Given the description of an element on the screen output the (x, y) to click on. 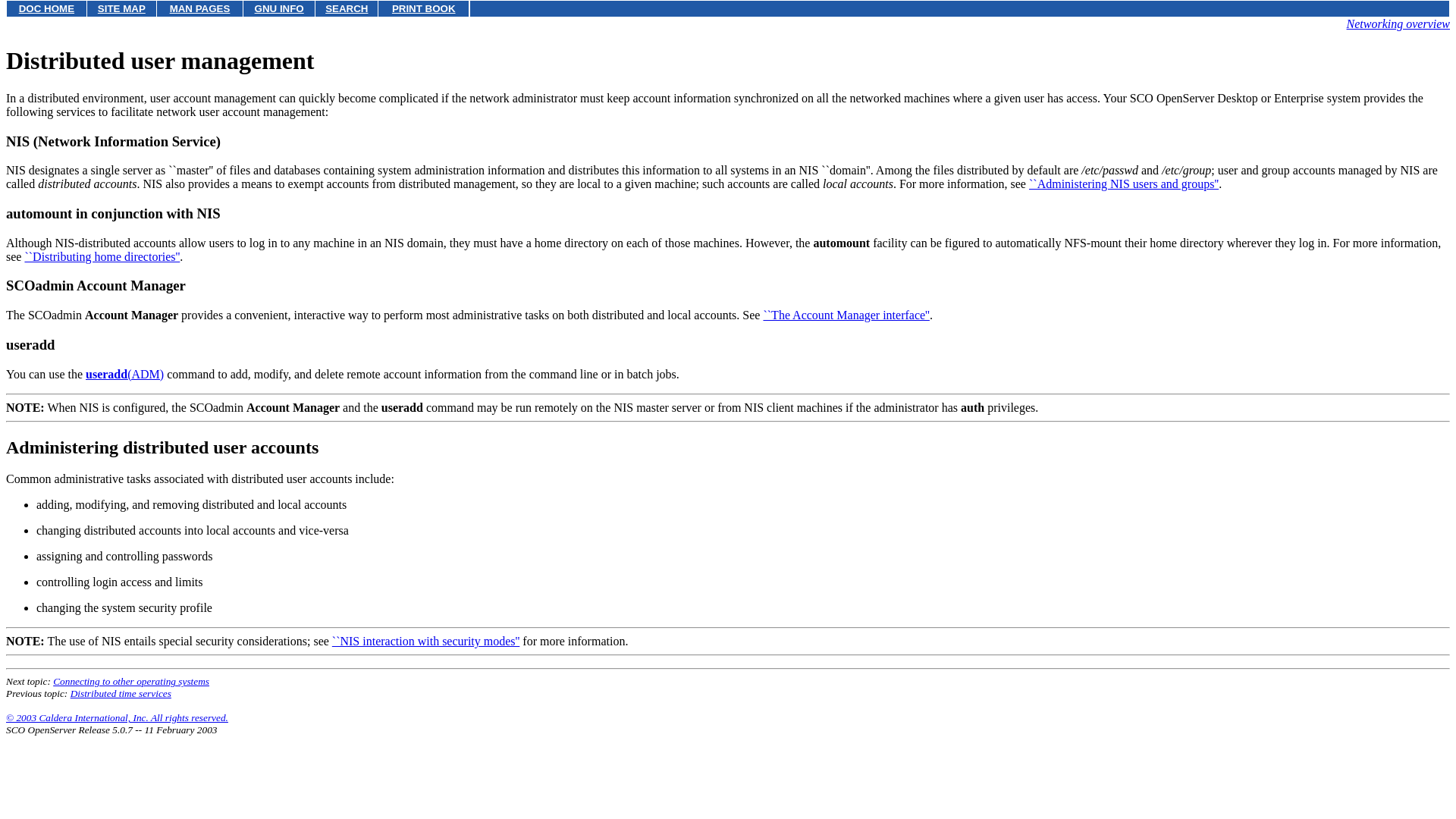
PRINT BOOK (423, 8)
SITE MAP (121, 8)
SEARCH (346, 8)
Connecting to other operating systems (130, 681)
GNU INFO (279, 8)
Distributed time services (120, 693)
Networking overview (1398, 23)
MAN PAGES (200, 8)
DOC HOME (46, 8)
